Given the description of an element on the screen output the (x, y) to click on. 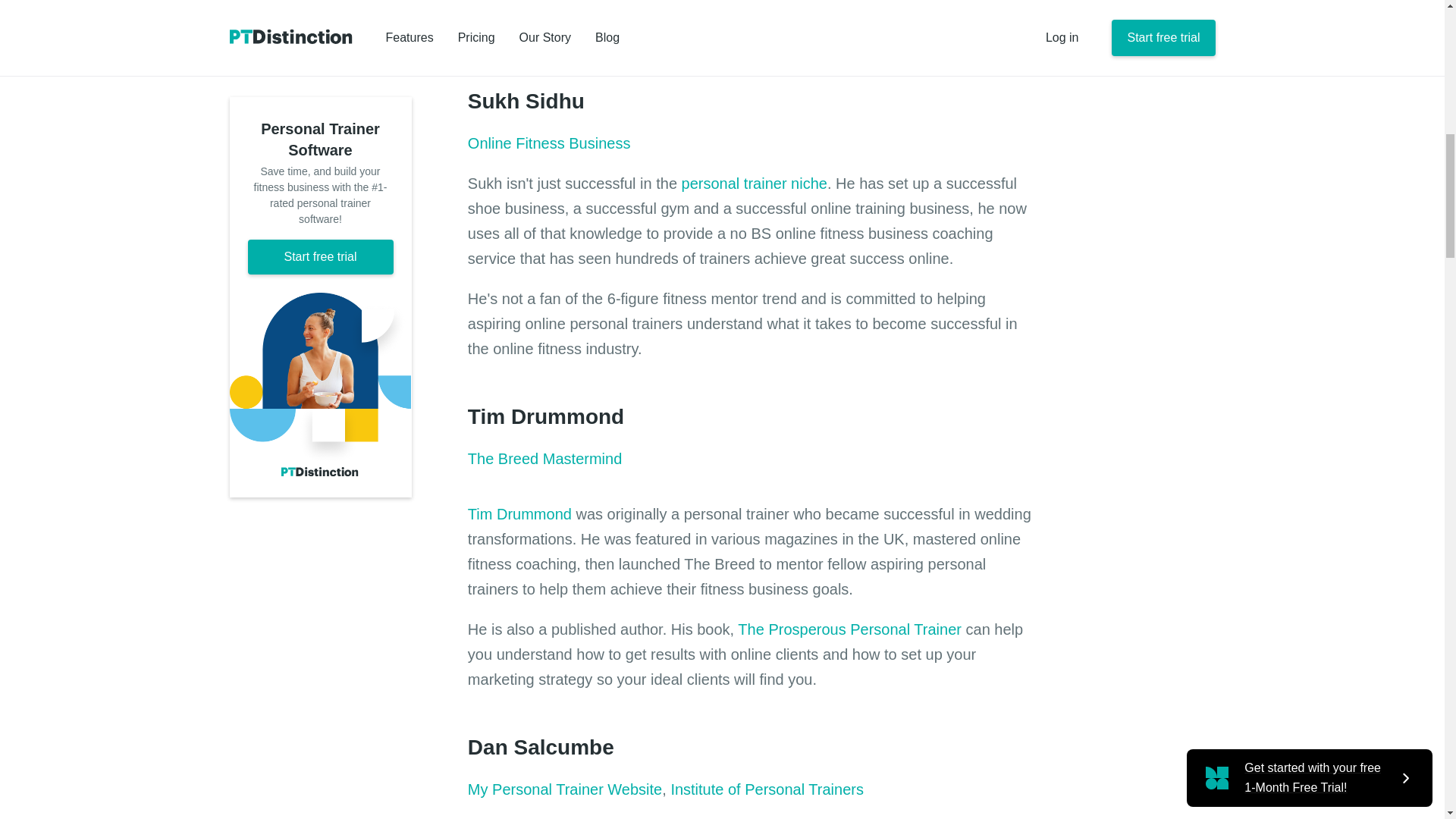
The Prosperous Personal Trainer (849, 629)
Online Fitness Business (548, 143)
The Breed Mastermind (544, 458)
Start free trial (320, 14)
My Personal Trainer Website (564, 789)
Tim Drummond (519, 514)
personal trainer niche (754, 183)
Institute of Personal Trainers (766, 789)
